Given the description of an element on the screen output the (x, y) to click on. 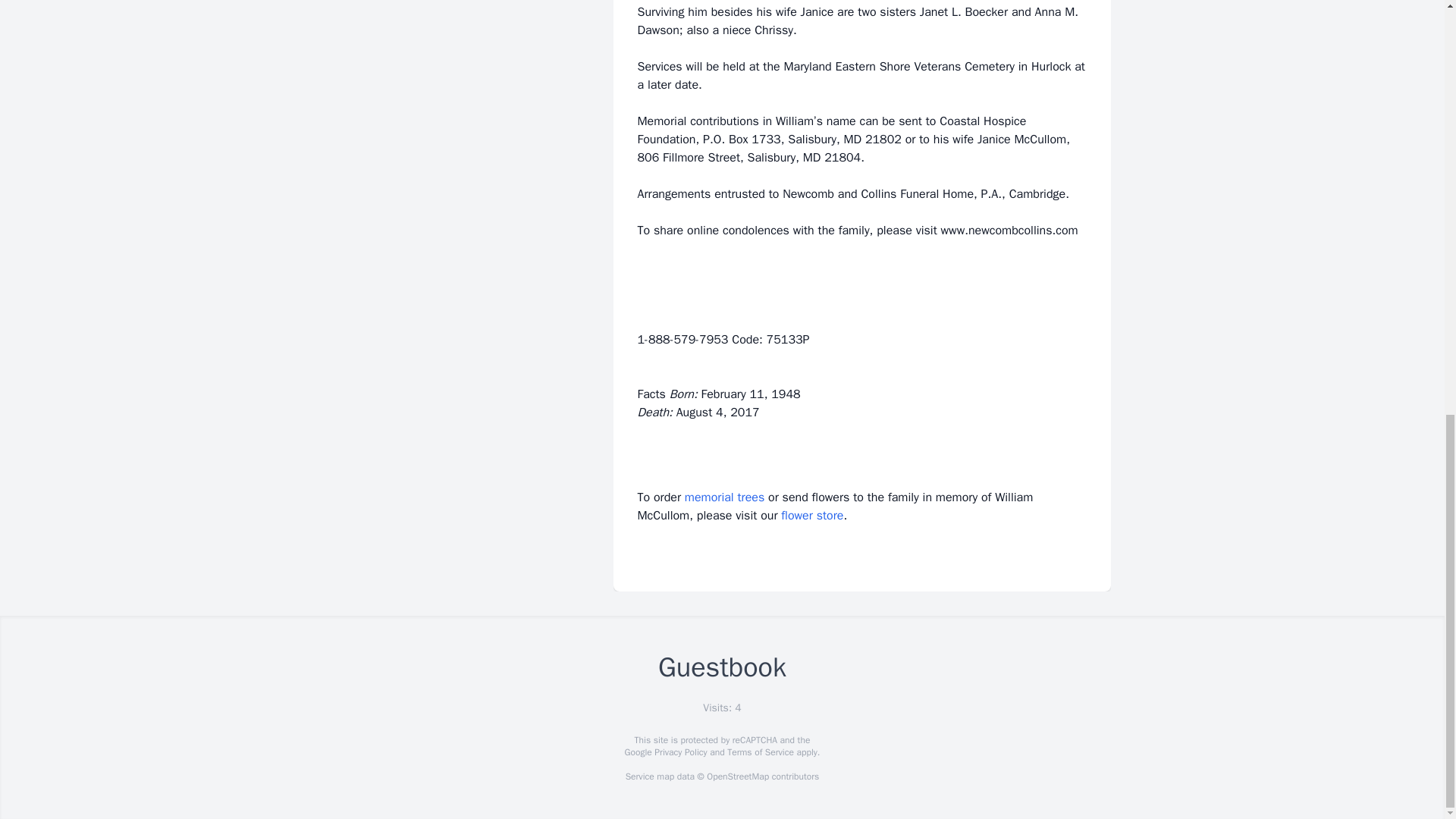
flower store (811, 515)
OpenStreetMap (737, 776)
Privacy Policy (679, 752)
Terms of Service (759, 752)
memorial trees (724, 497)
